Given the description of an element on the screen output the (x, y) to click on. 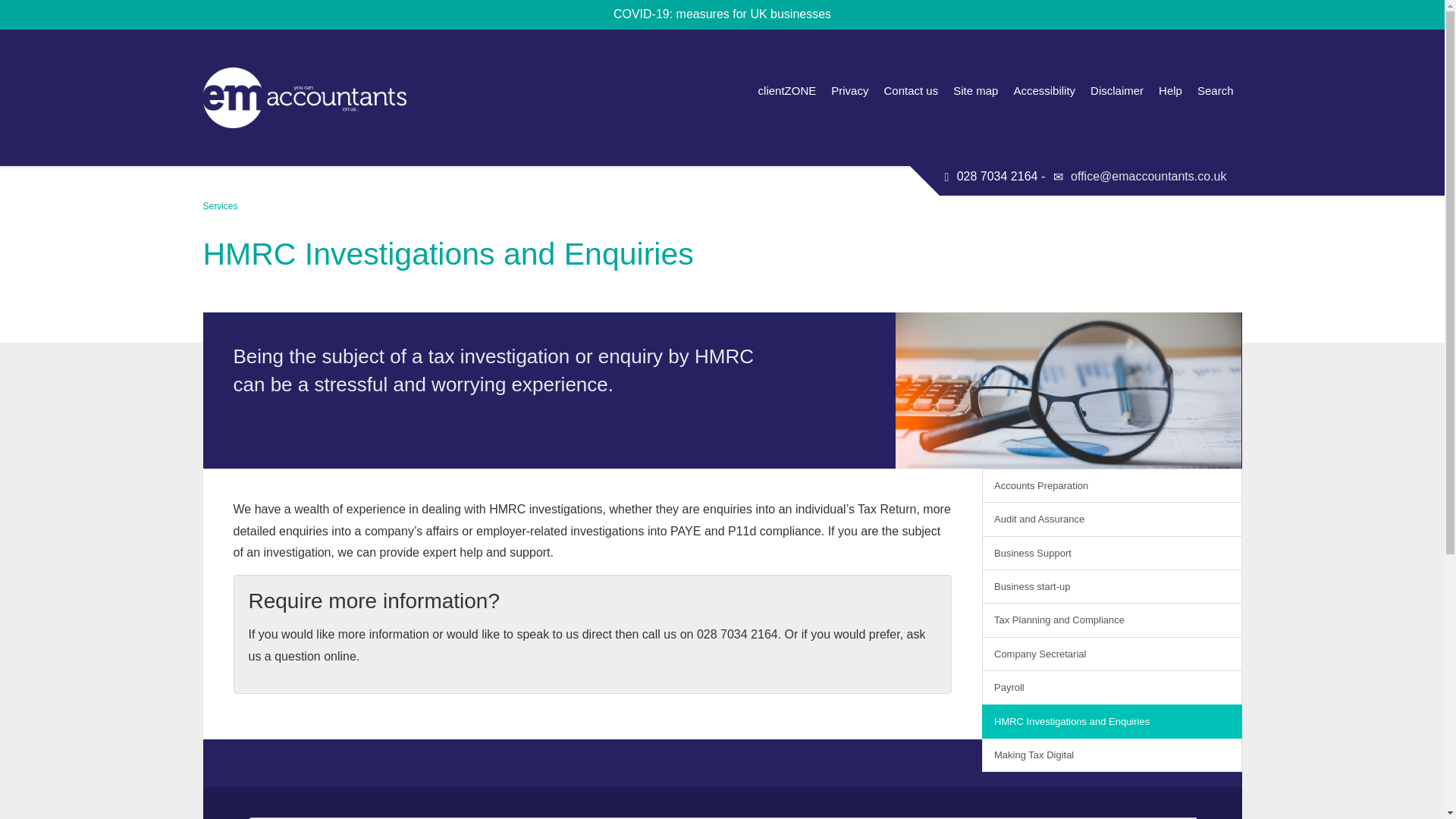
Disclaimer (1117, 90)
Site map (975, 90)
Contact us (910, 90)
Business start-up (1111, 586)
Search (1215, 90)
Accounts Preparation (1111, 485)
Site map (975, 90)
Search (1215, 90)
Audit and Assurance (1111, 519)
Accessibility (1044, 90)
Disclaimer (1117, 90)
HMRC Investigations and Enquiries (1111, 720)
Click to ask a question via a quick form (587, 645)
Company Secretarial (1111, 653)
Contact us (910, 90)
